Given the description of an element on the screen output the (x, y) to click on. 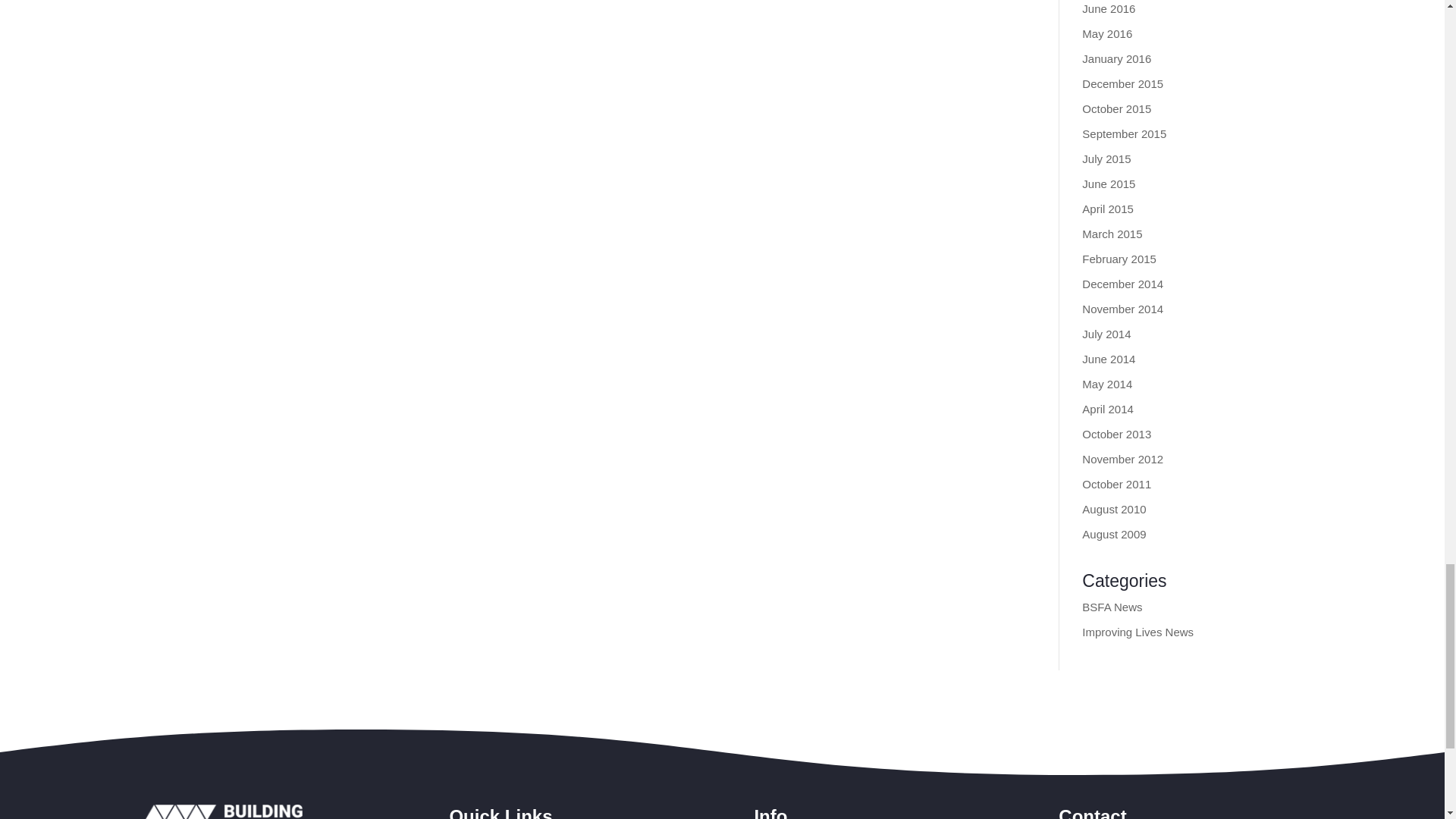
logo-3 (222, 811)
